Given the description of an element on the screen output the (x, y) to click on. 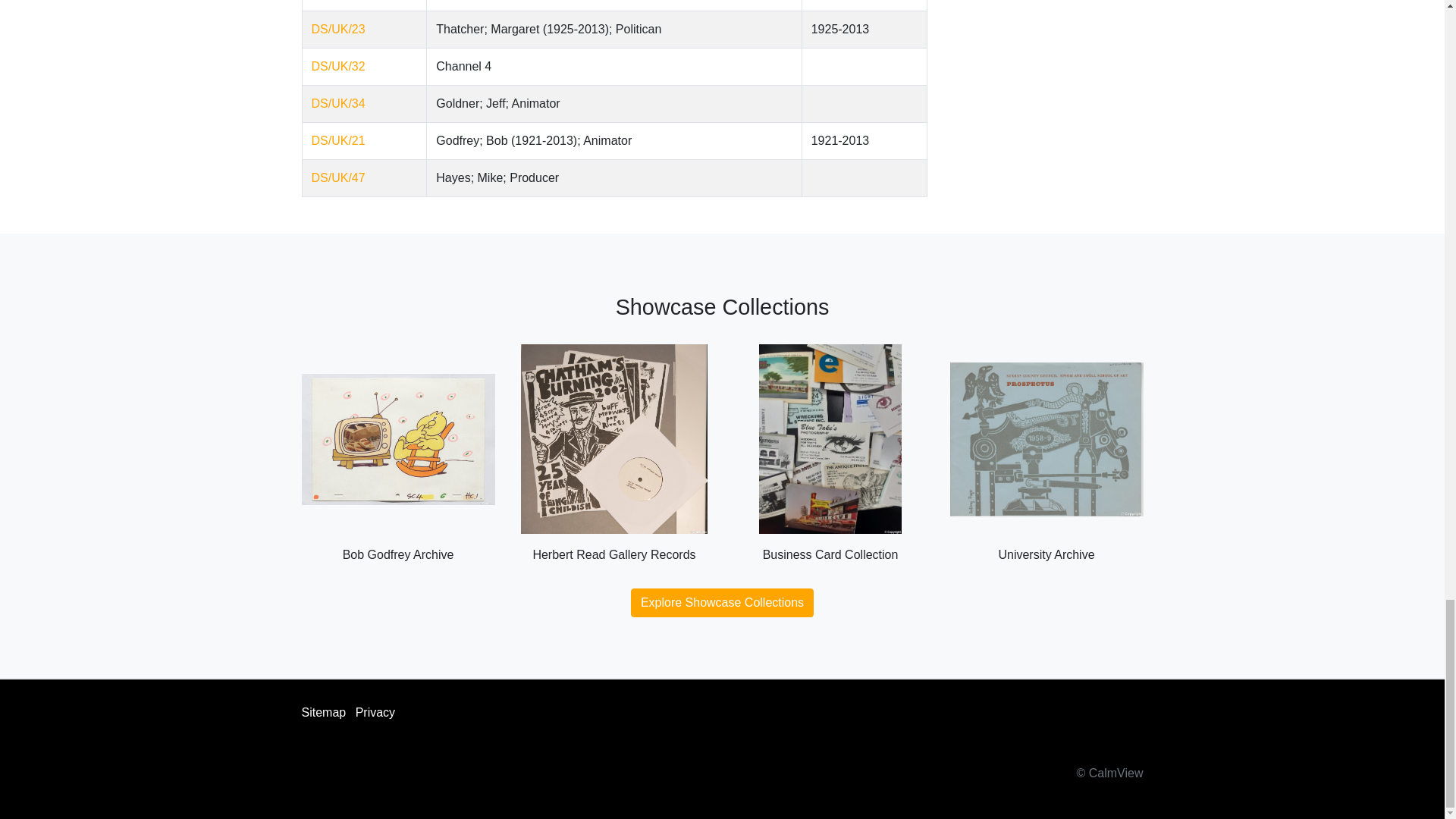
Explore Showcase Collections (721, 602)
Sitemap (323, 712)
Show related Persons records. (338, 177)
Show related Persons records. (338, 65)
Show related Persons records. (338, 140)
Show related Persons records. (338, 103)
Privacy (374, 712)
Show related Persons records. (338, 29)
